Given the description of an element on the screen output the (x, y) to click on. 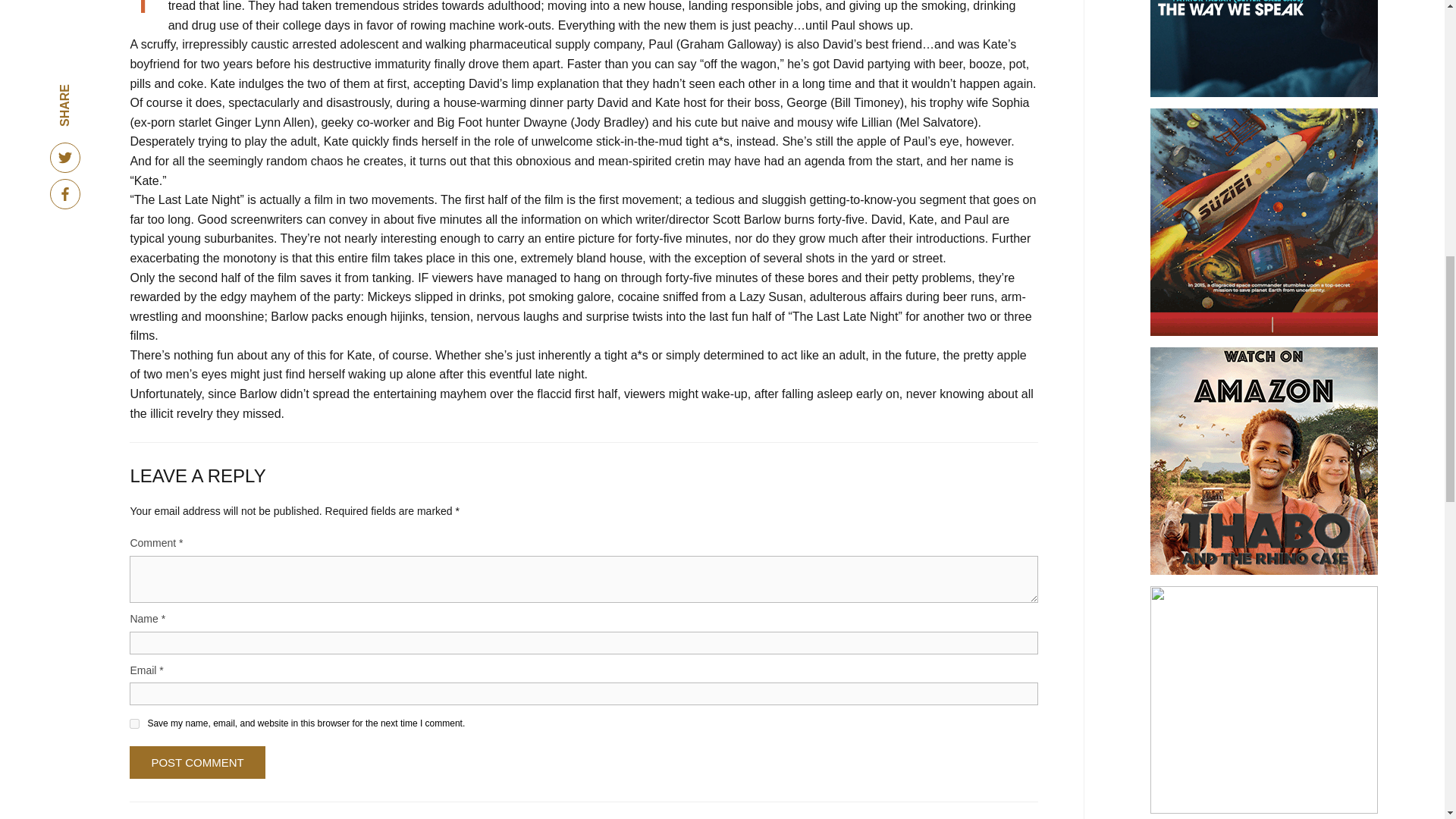
yes (134, 723)
Post Comment (196, 762)
Post Comment (196, 762)
